Given the description of an element on the screen output the (x, y) to click on. 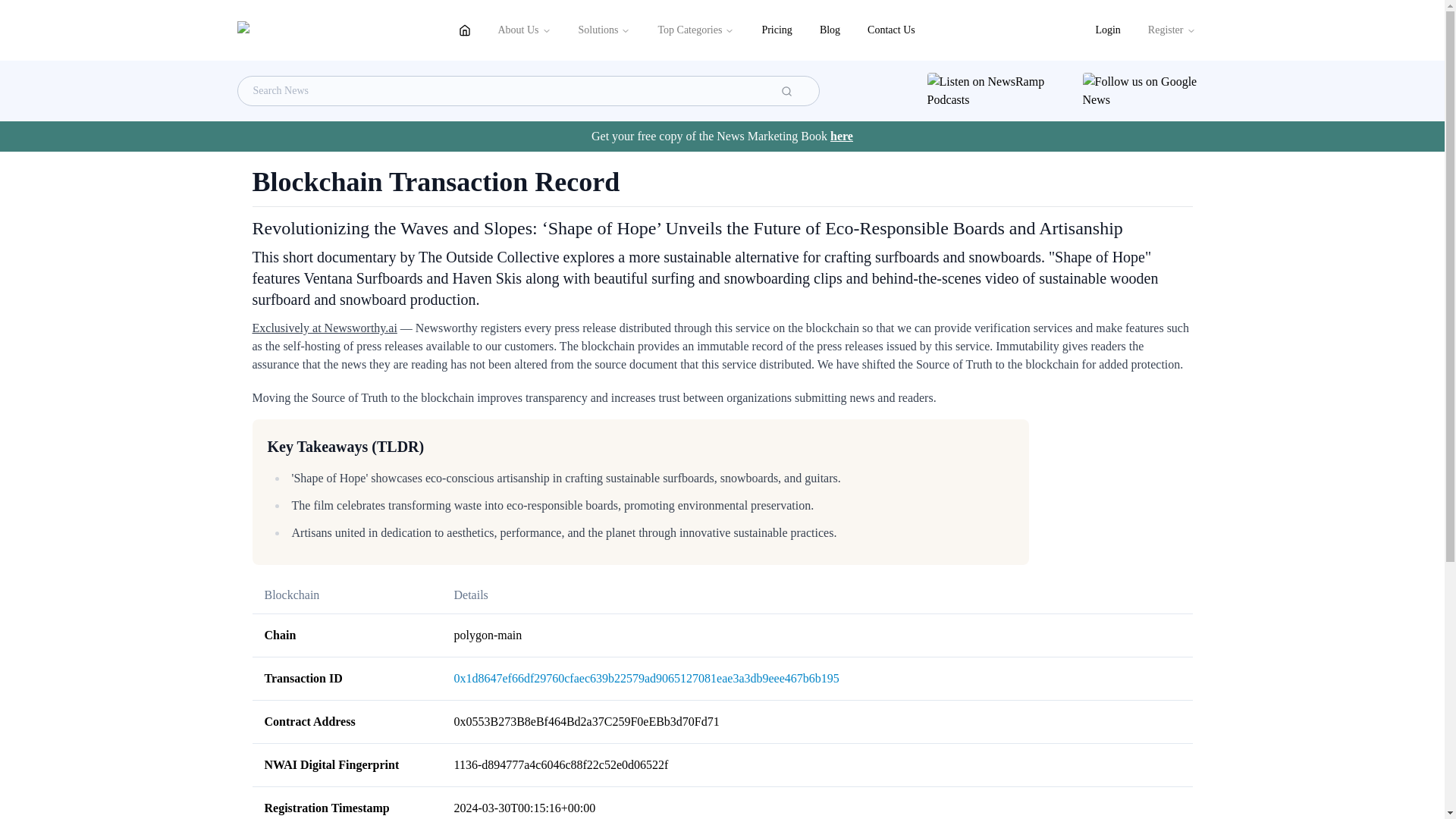
Top Categories (695, 30)
Pricing (776, 30)
here (841, 135)
Register (1171, 30)
Blog (829, 30)
Login (1107, 30)
Solutions (604, 30)
Contact Us (891, 30)
homepage (463, 30)
About Us (523, 30)
